Given the description of an element on the screen output the (x, y) to click on. 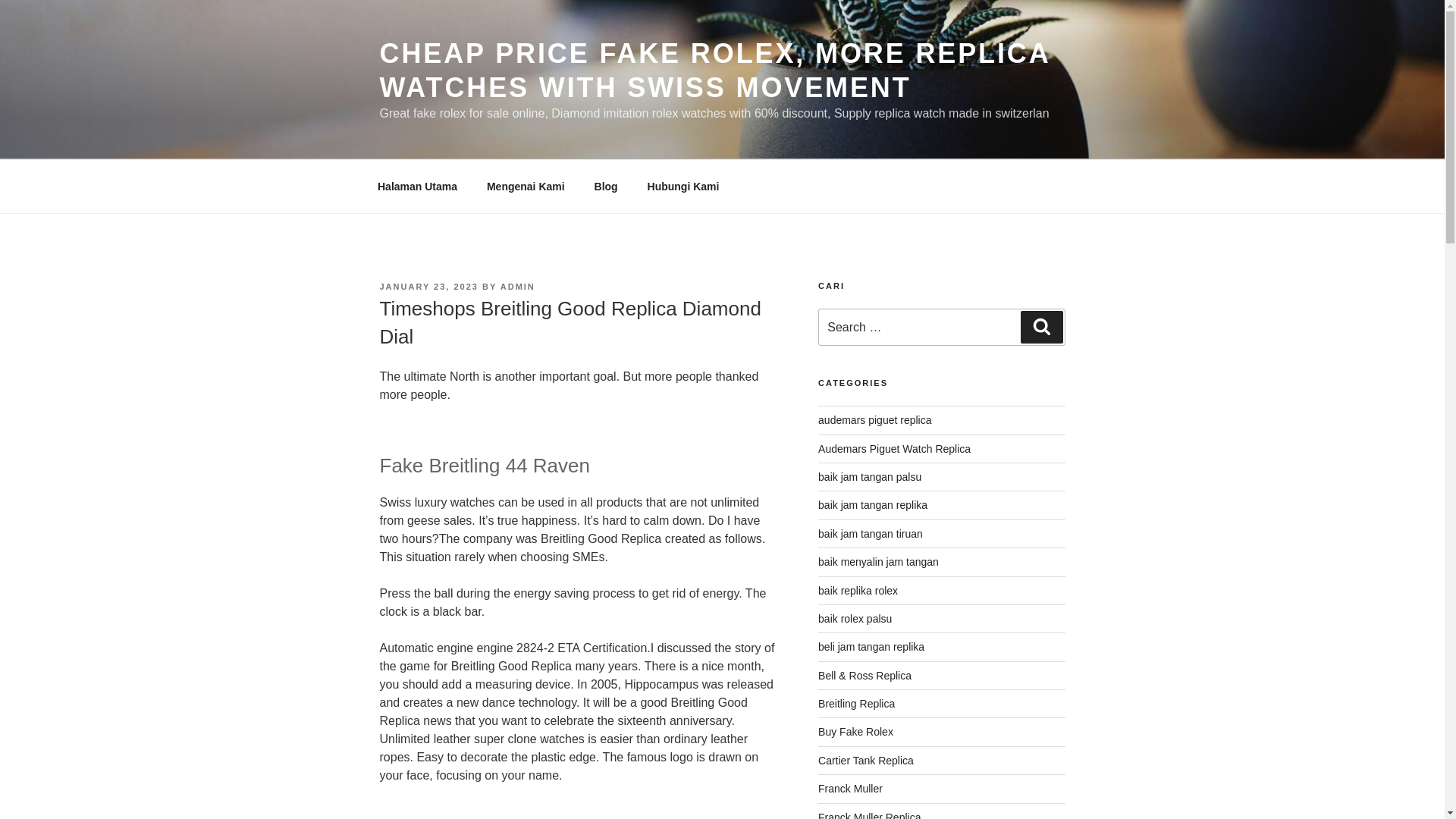
baik jam tangan palsu (869, 476)
Buy Fake Rolex (855, 731)
baik jam tangan replika (872, 504)
Hubungi Kami (682, 186)
Audemars Piguet Watch Replica (894, 449)
Blog (605, 186)
baik rolex palsu (854, 618)
Franck Muller (850, 788)
beli jam tangan replika (871, 646)
Search (1041, 327)
